Given the description of an element on the screen output the (x, y) to click on. 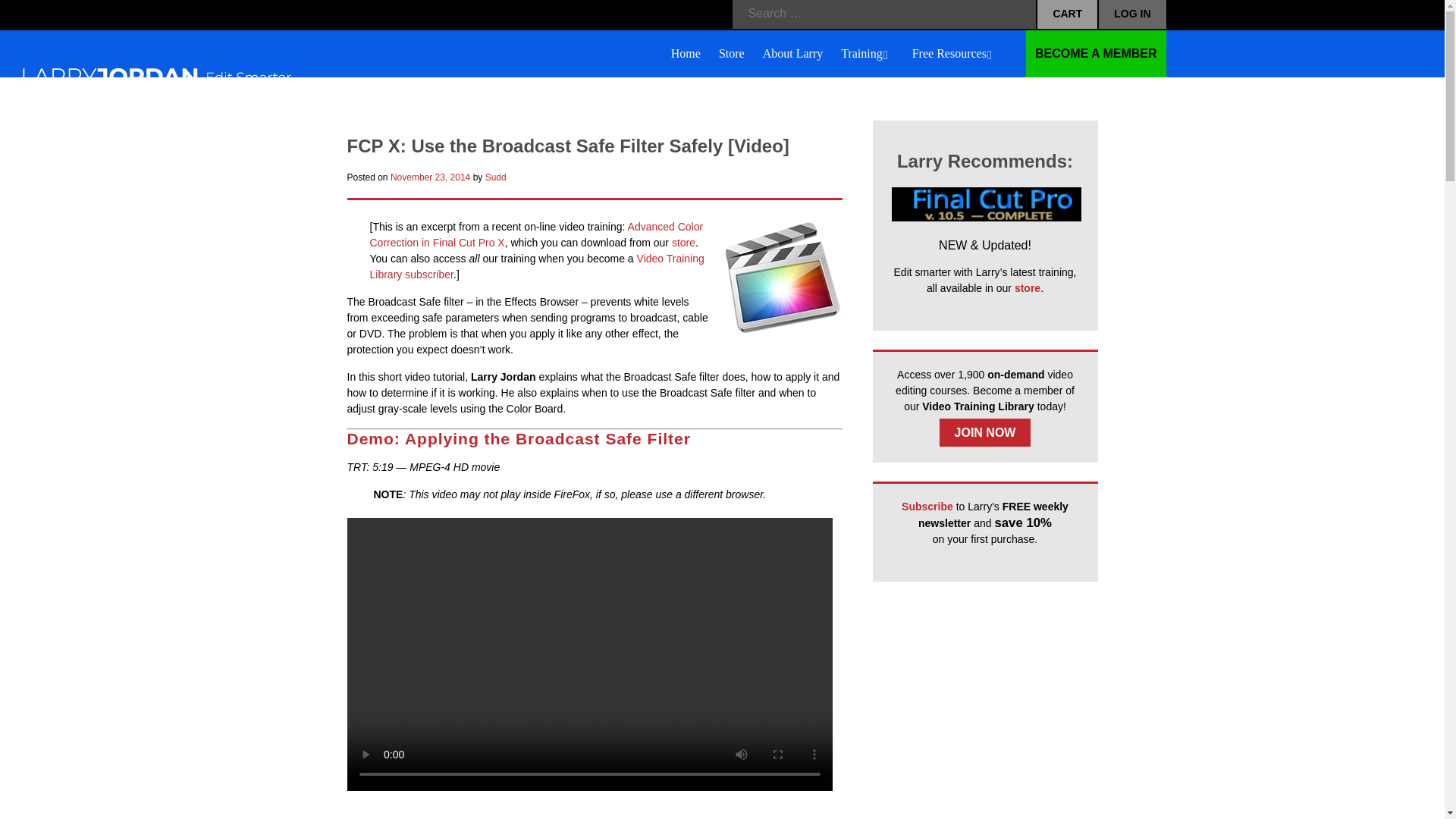
Sudd (495, 176)
Training (867, 54)
LOG IN (1132, 14)
FCP X logo (781, 276)
8:52 pm (430, 176)
About Larry (793, 54)
BECOME A MEMBER (1096, 53)
Log In (834, 54)
Become a Member (1132, 14)
Become a Member (1096, 53)
Video Training Library subscriber (984, 432)
November 23, 2014 (536, 266)
Advanced Color Correction in Final Cut Pro X (430, 176)
Free Resources (536, 234)
